Given the description of an element on the screen output the (x, y) to click on. 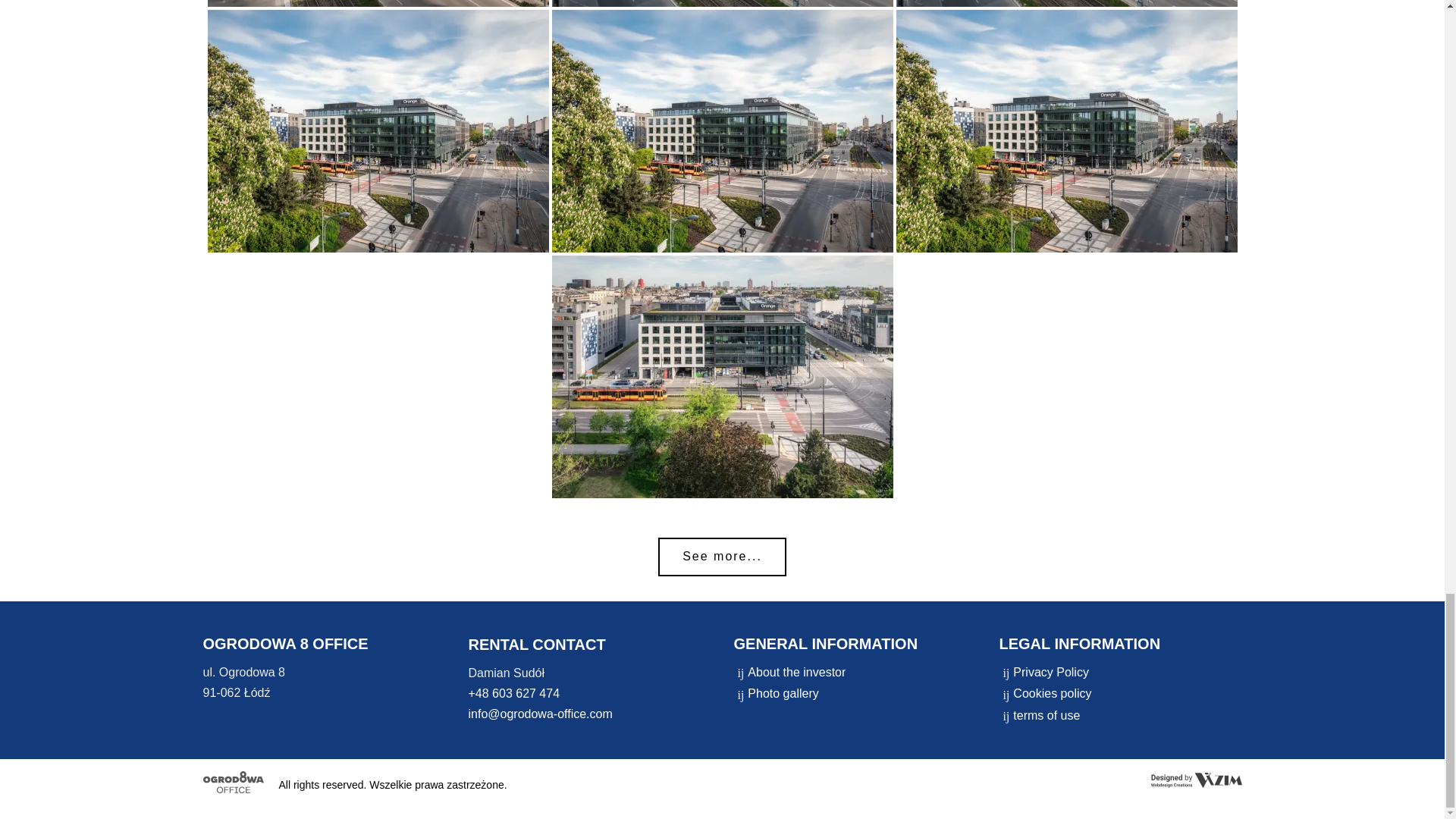
Privacy Policy (1051, 671)
Cookies policy (1051, 693)
See more... (722, 556)
About the investor (796, 671)
terms of use (1046, 715)
Photo gallery (783, 693)
